Given the description of an element on the screen output the (x, y) to click on. 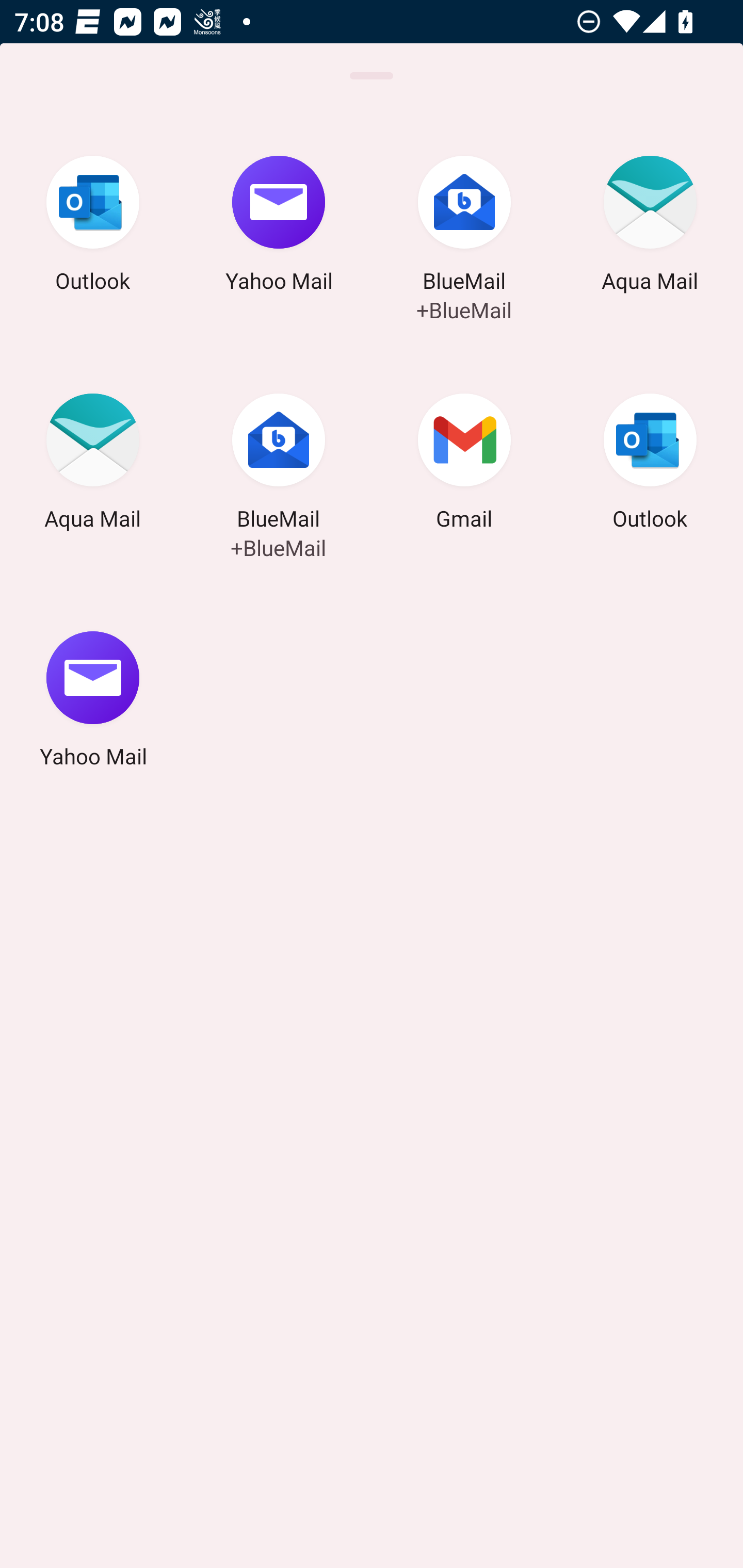
Outlook (92, 227)
Yahoo Mail (278, 227)
BlueMail +BlueMail (464, 227)
Aqua Mail (650, 227)
Aqua Mail (92, 464)
BlueMail +BlueMail (278, 464)
Gmail (464, 464)
Outlook (650, 464)
Yahoo Mail (92, 702)
